Given the description of an element on the screen output the (x, y) to click on. 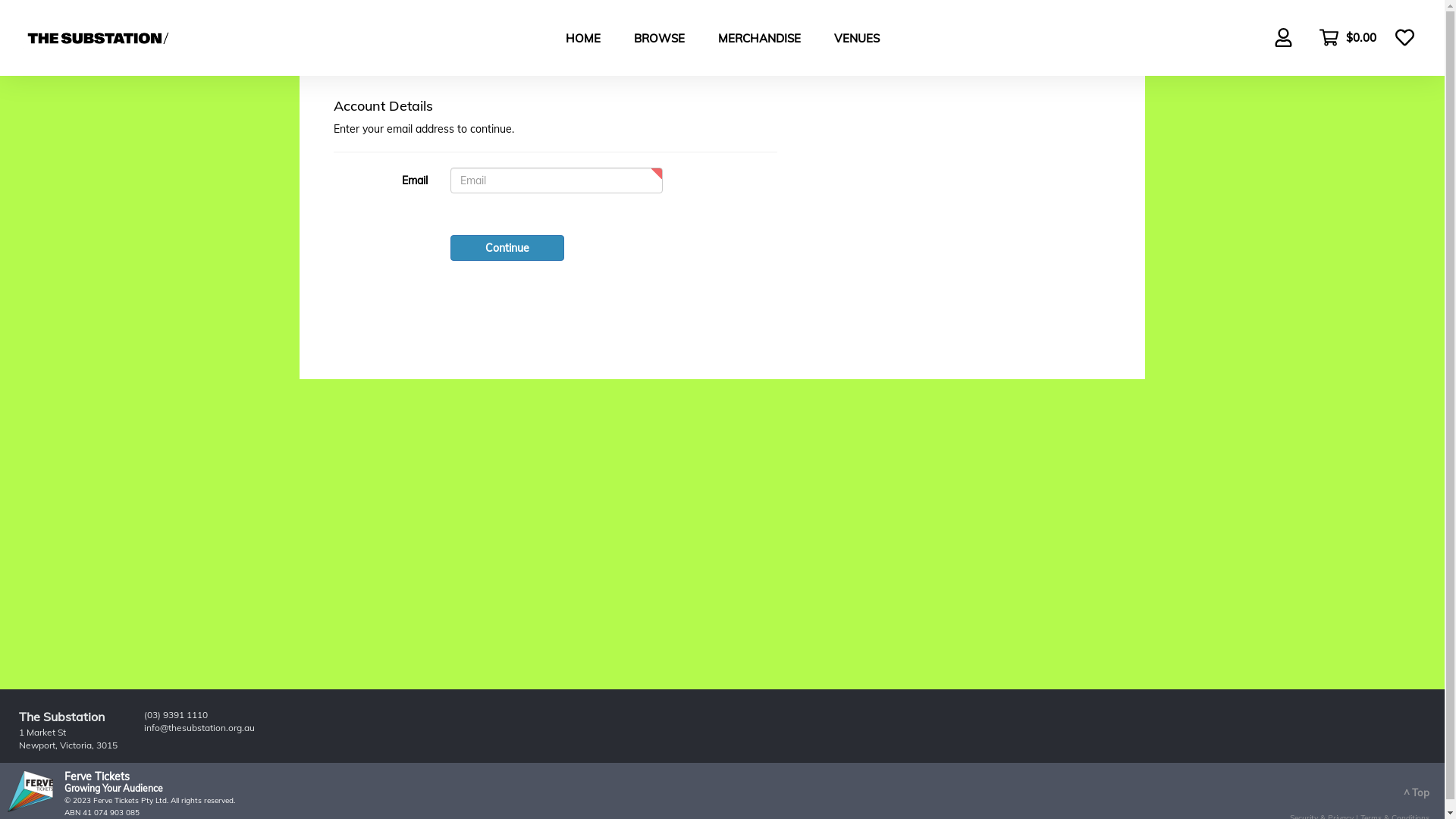
^ Top Element type: text (1416, 792)
HOME Element type: text (582, 37)
VENUES Element type: text (856, 37)
BROWSE Element type: text (658, 37)
info@thesubstation.org.au Element type: text (199, 727)
Ferve Tickets Element type: text (96, 776)
Growing Your Audience Element type: text (113, 787)
$0.00 Element type: text (1340, 38)
Continue Element type: text (507, 247)
MERCHANDISE Element type: text (758, 37)
